Given the description of an element on the screen output the (x, y) to click on. 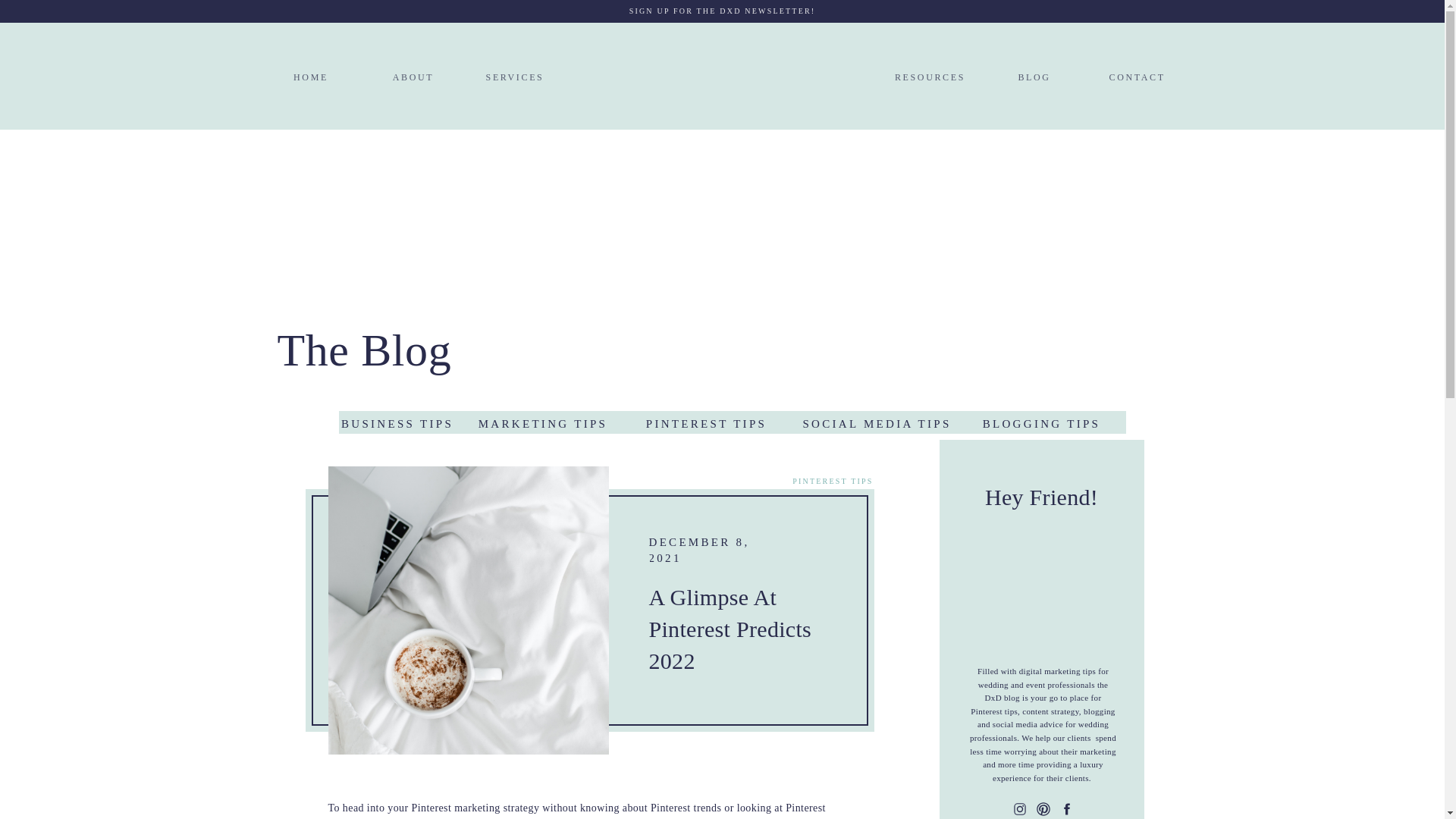
MARKETING TIPS (542, 424)
SOCIAL MEDIA TIPS (876, 421)
CONTACT (1132, 76)
PINTEREST TIPS (832, 480)
RESOURCES (929, 76)
BUSINESS TIPS (397, 421)
HOME (310, 76)
PINTEREST TIPS (705, 421)
BLOG (1034, 76)
ABOUT (412, 76)
